Given the description of an element on the screen output the (x, y) to click on. 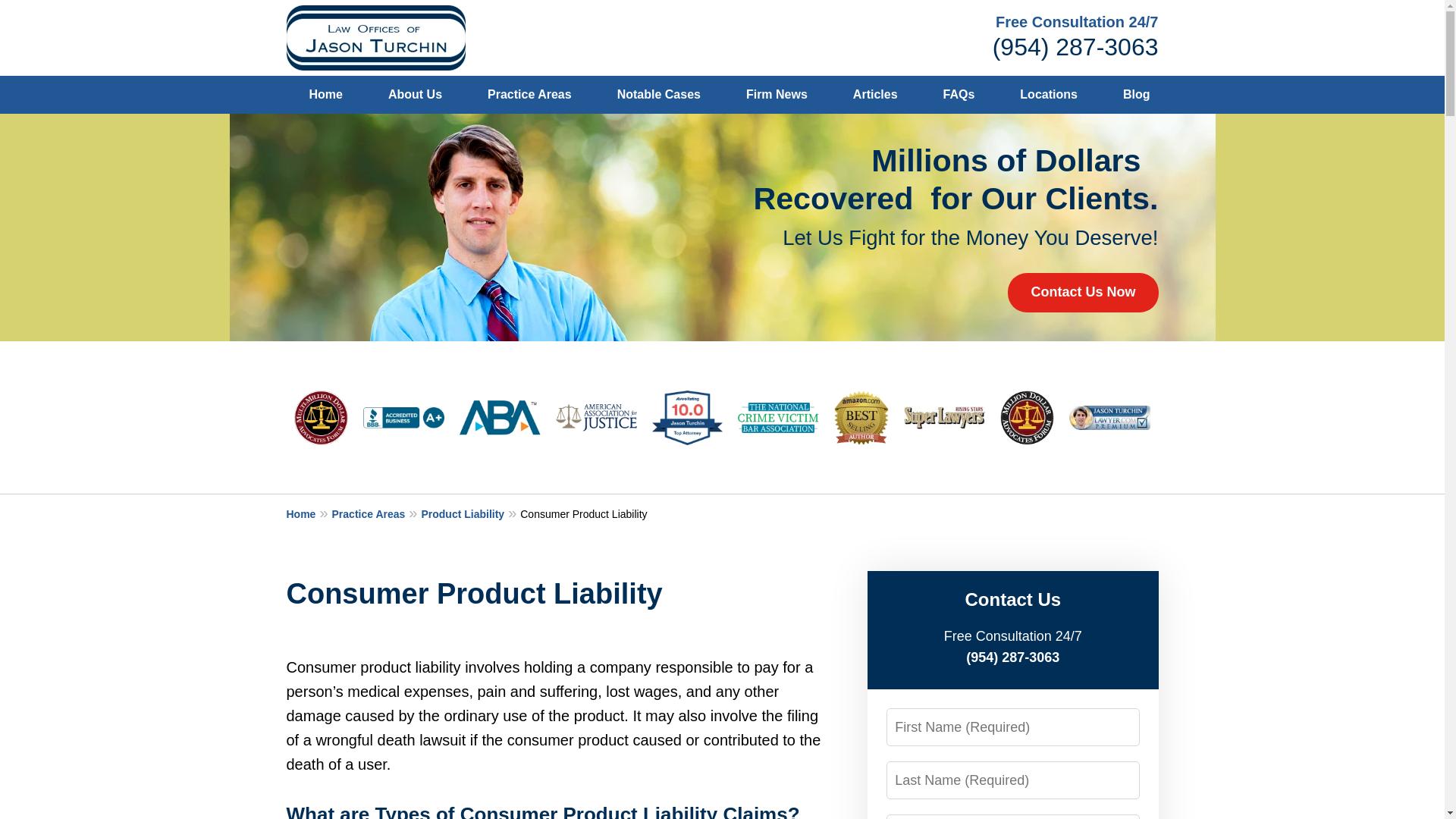
Articles (874, 94)
Notable Cases (658, 94)
Practice Areas (376, 513)
About Us (414, 94)
Contact Us (1226, 94)
Home (308, 513)
Firm News (776, 94)
Contact Us Now (1082, 292)
Product Liability (469, 513)
Blog (1136, 94)
